Given the description of an element on the screen output the (x, y) to click on. 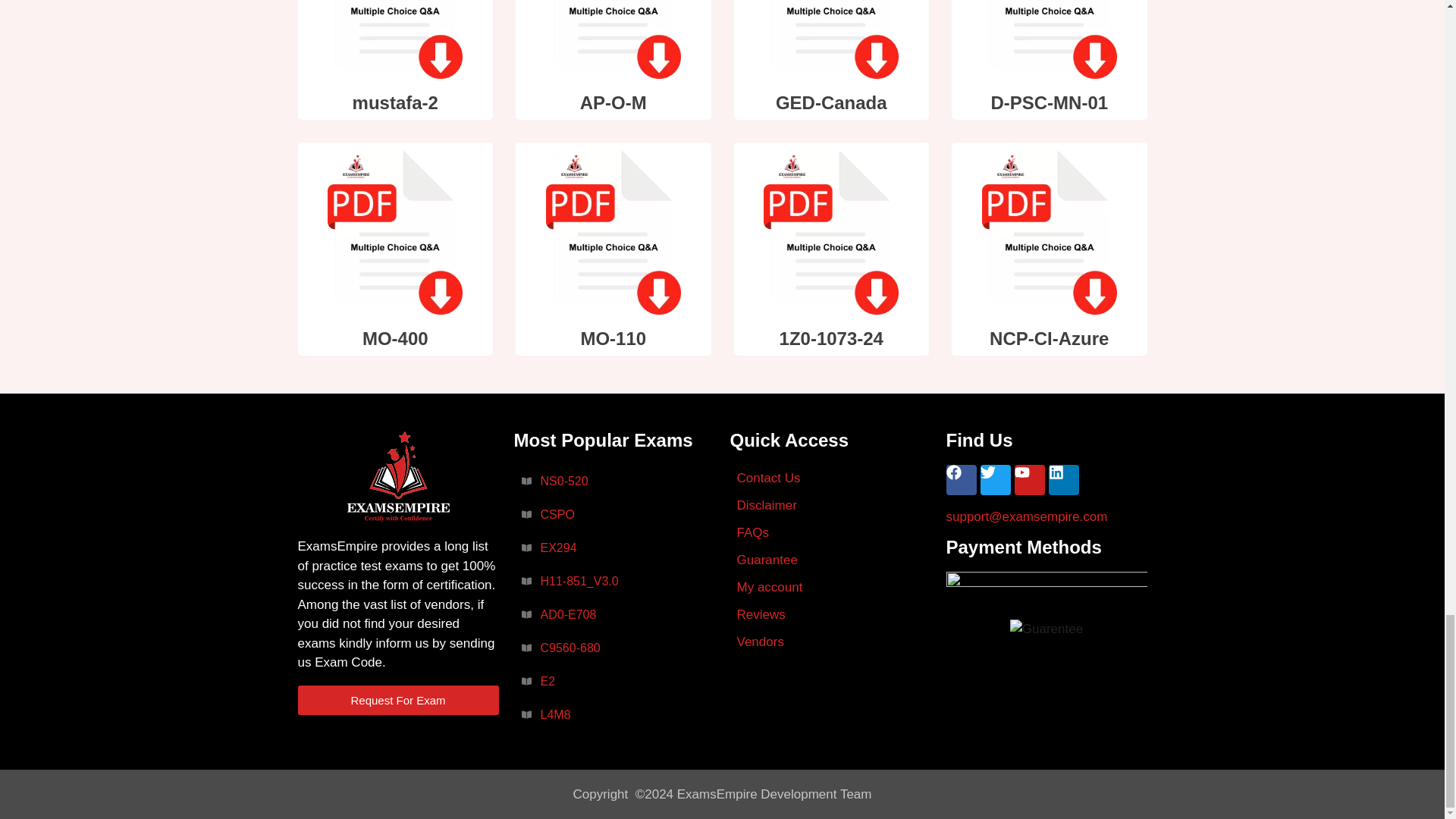
Guarentee (1046, 627)
